Given the description of an element on the screen output the (x, y) to click on. 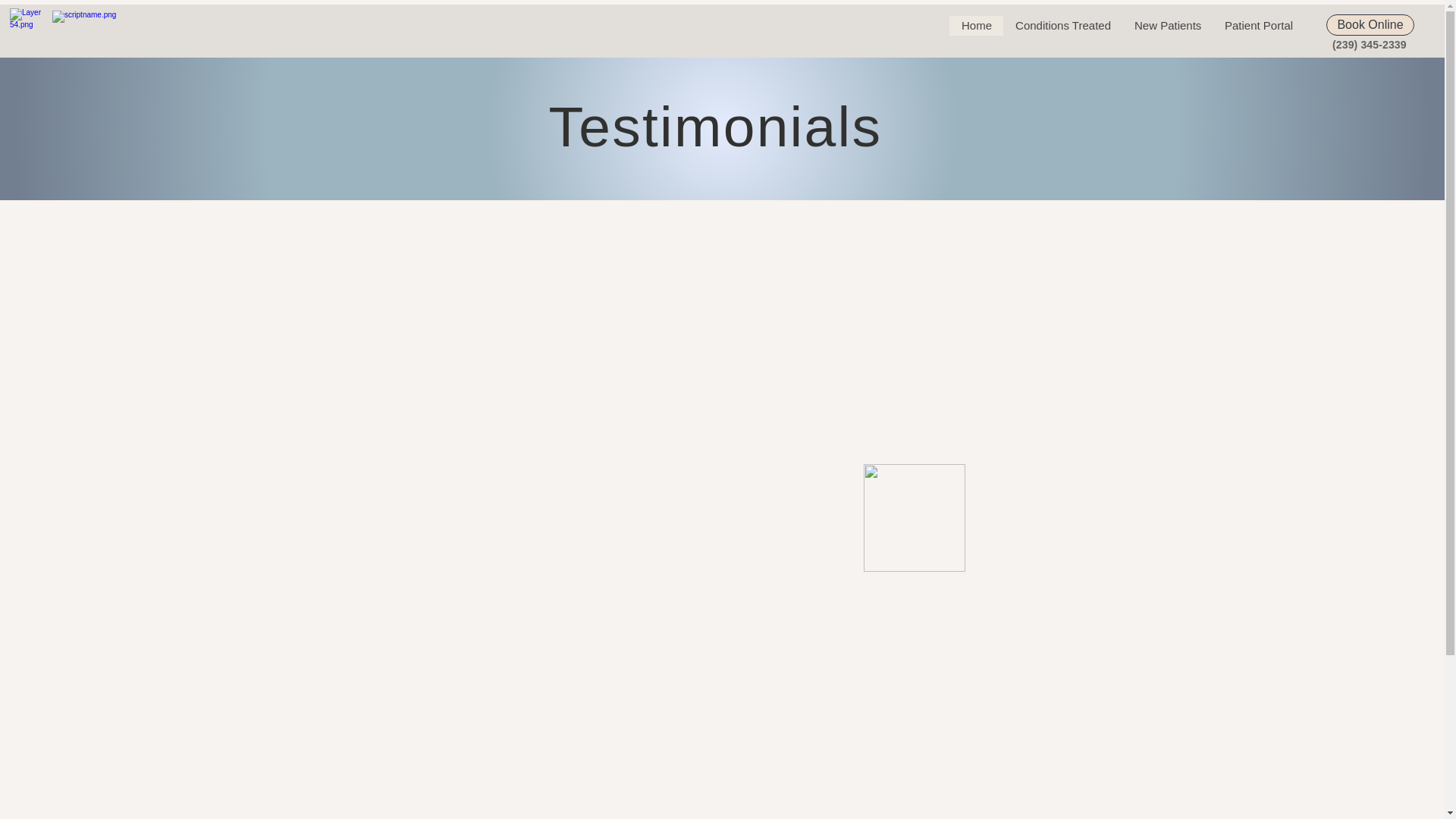
Book Online (1369, 25)
Patient Portal (1258, 25)
New Patients (1167, 25)
Conditions Treated (1062, 25)
Home (976, 25)
